Given the description of an element on the screen output the (x, y) to click on. 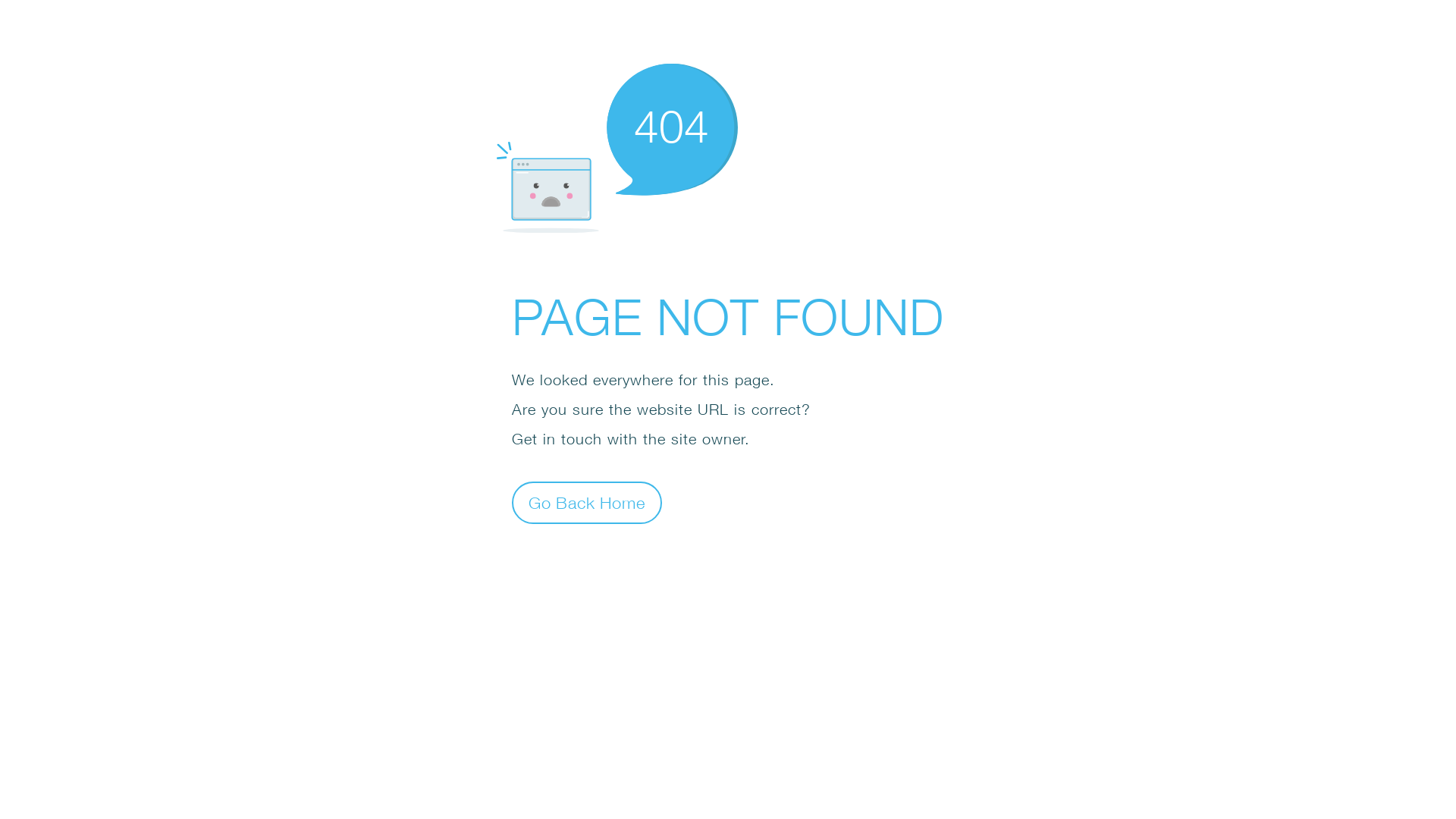
Go Back Home Element type: text (586, 502)
